Given the description of an element on the screen output the (x, y) to click on. 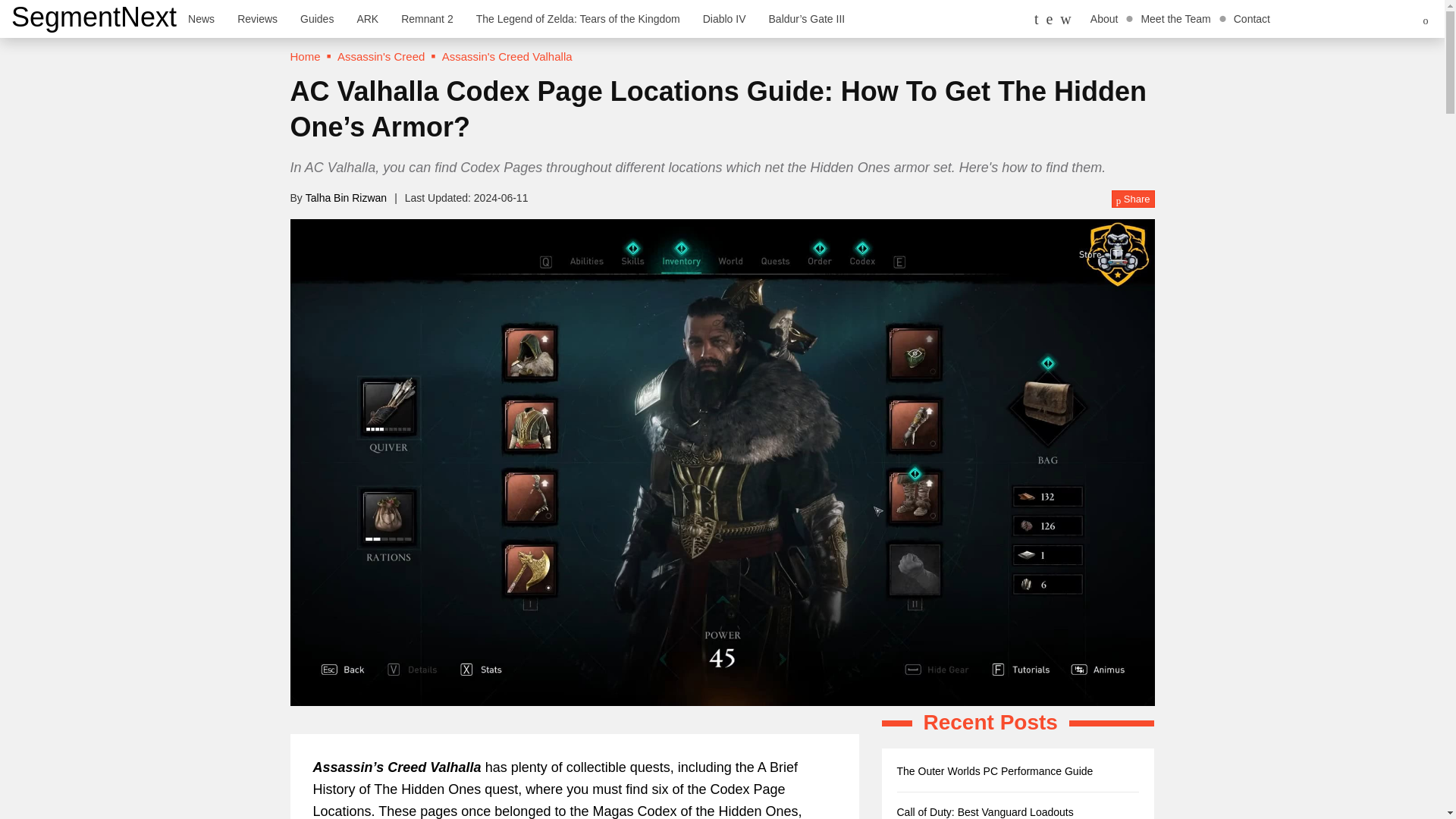
Contact (1252, 18)
Meet the Team (1175, 18)
Diablo IV (724, 18)
Remnant 2 (427, 18)
News (200, 18)
Assassin's Creed Valhalla (507, 56)
Reviews (256, 18)
Baldur's Gate III (807, 18)
News (200, 18)
Guides (316, 18)
